Given the description of an element on the screen output the (x, y) to click on. 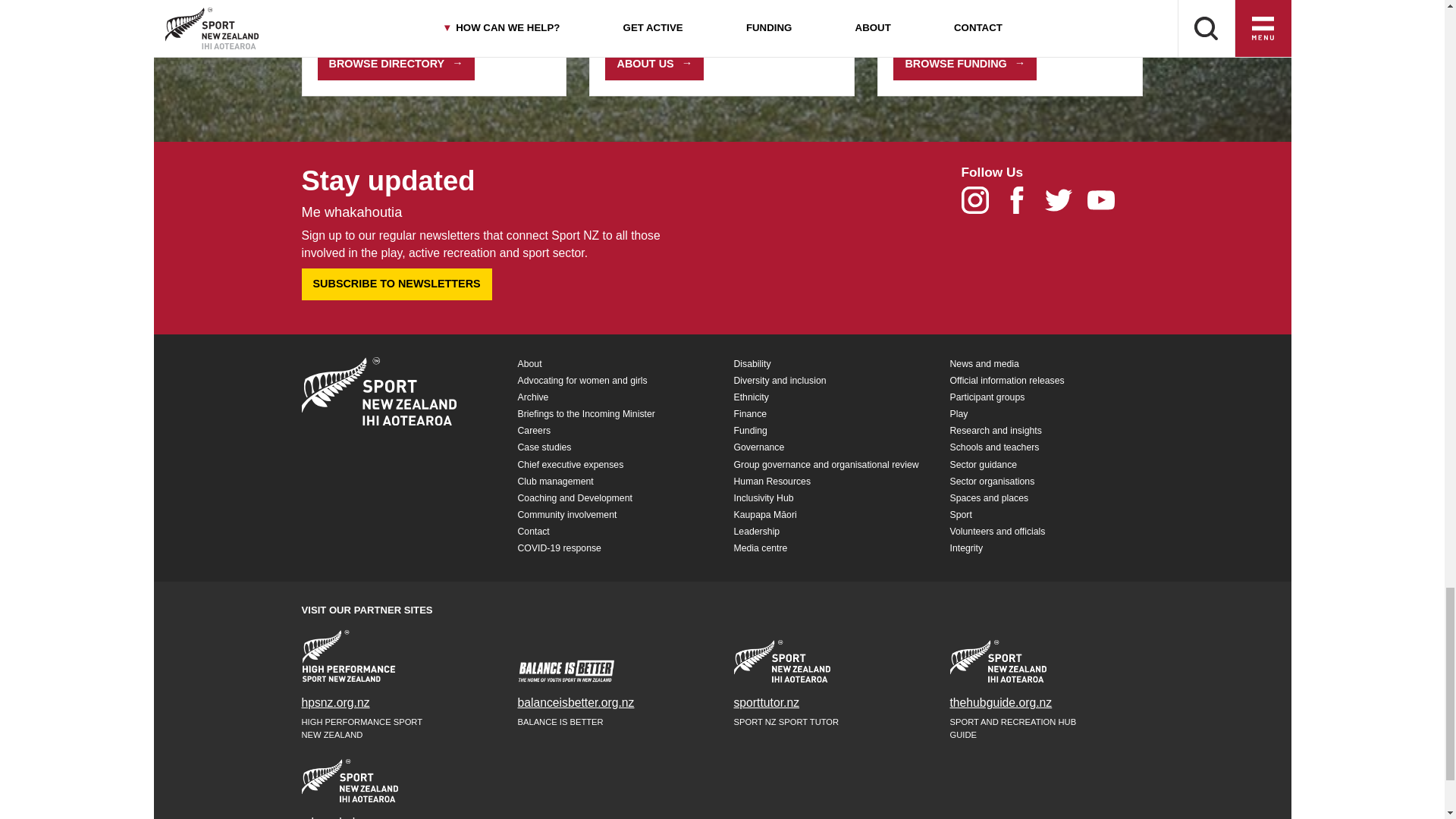
Twitter (1065, 204)
Instagram (981, 204)
Facebook (1024, 204)
YouTube (1106, 204)
